Given the description of an element on the screen output the (x, y) to click on. 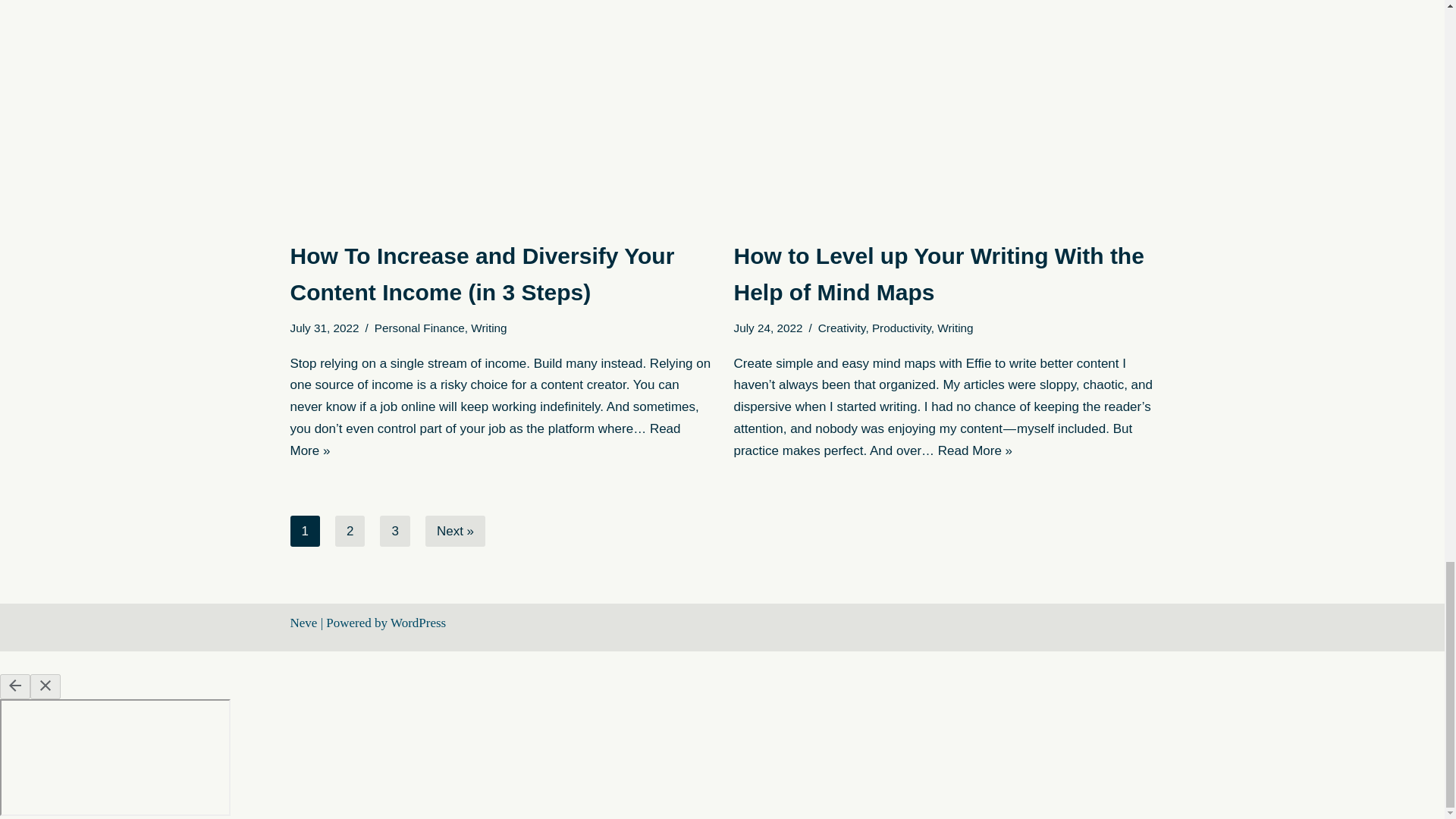
How to Level up Your Writing With the Help of Mind Maps (943, 111)
